Given the description of an element on the screen output the (x, y) to click on. 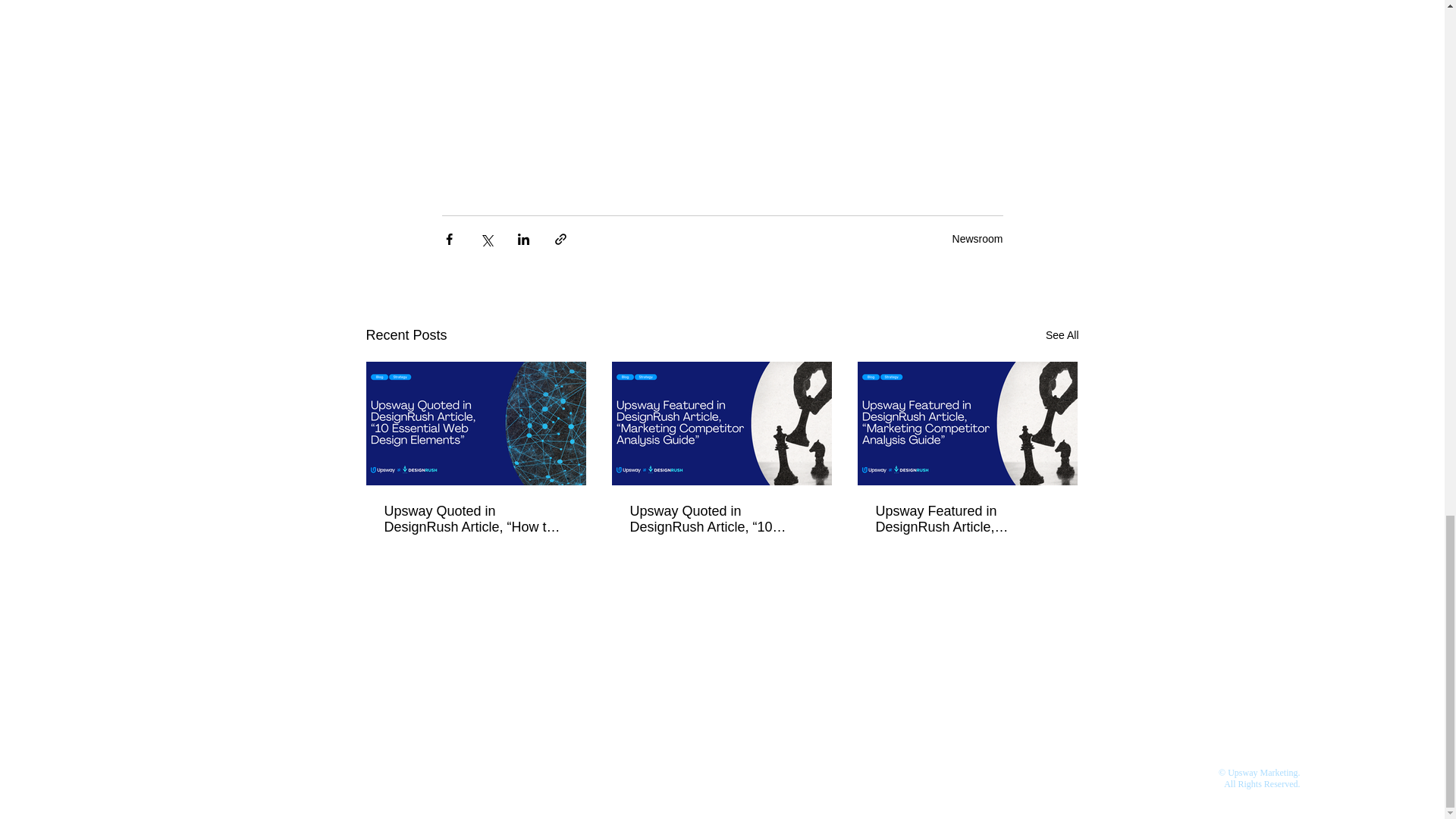
remote content (721, 77)
Newsroom (977, 238)
See All (1061, 335)
